Given the description of an element on the screen output the (x, y) to click on. 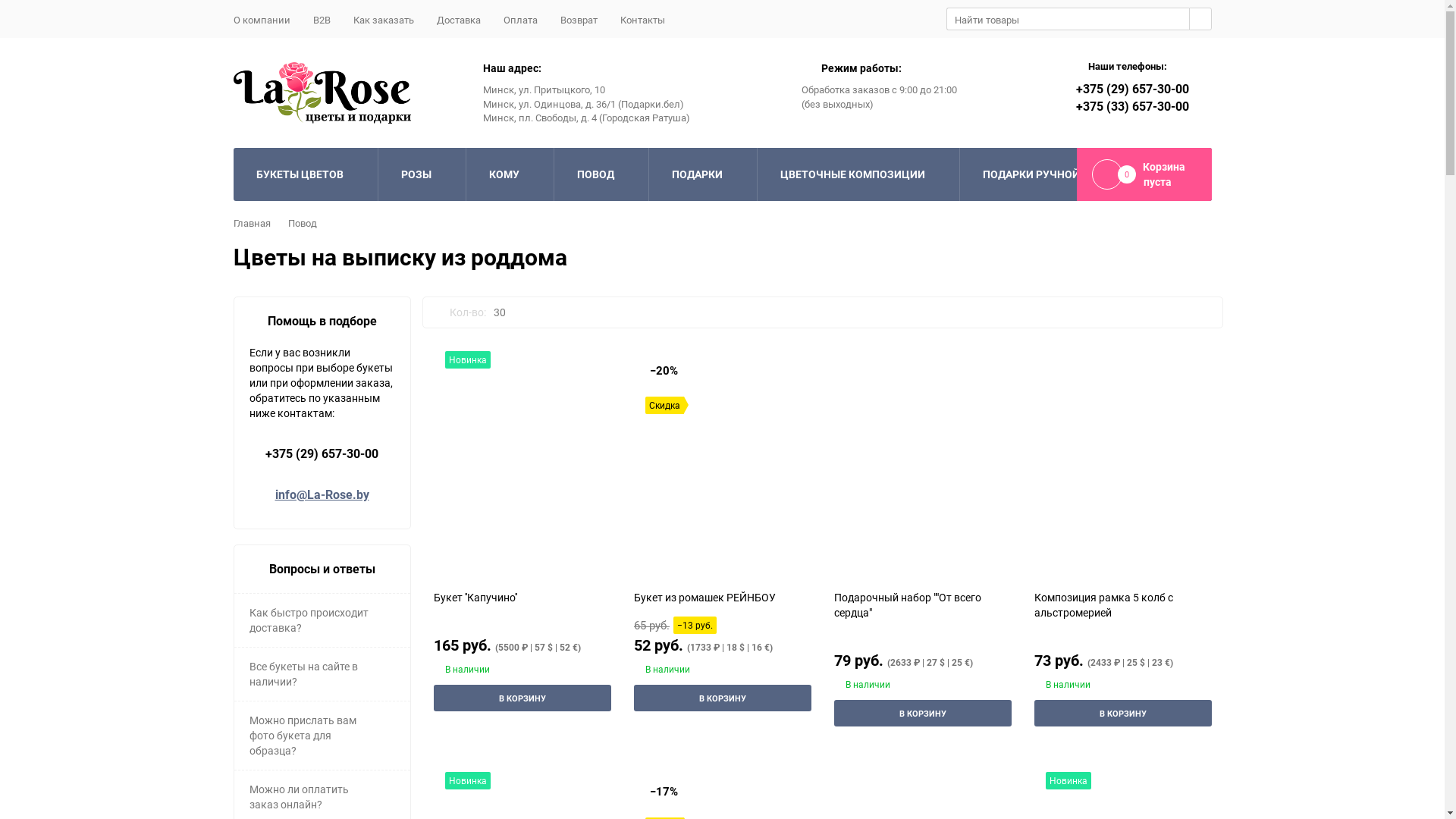
+375 (29) 657-30-00 Element type: text (1131, 88)
+375 (29) 657-30-00 Element type: text (321, 453)
info@La-Rose.by Element type: text (321, 494)
B2B Element type: text (320, 19)
+375 (33) 657-30-00 Element type: text (1131, 105)
